Given the description of an element on the screen output the (x, y) to click on. 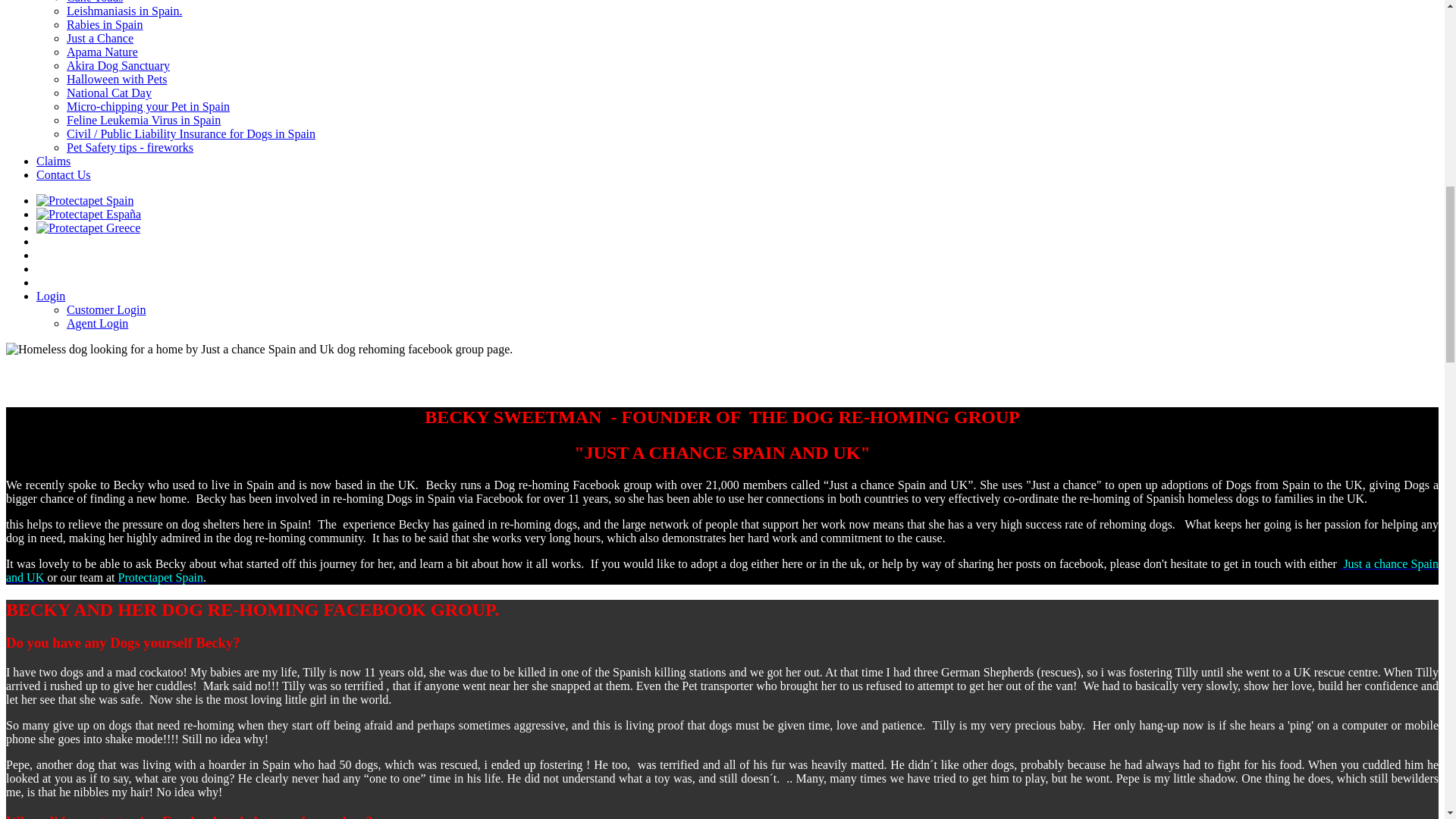
Protectapet Spain (84, 200)
Protectapet Greece (87, 227)
